Given the description of an element on the screen output the (x, y) to click on. 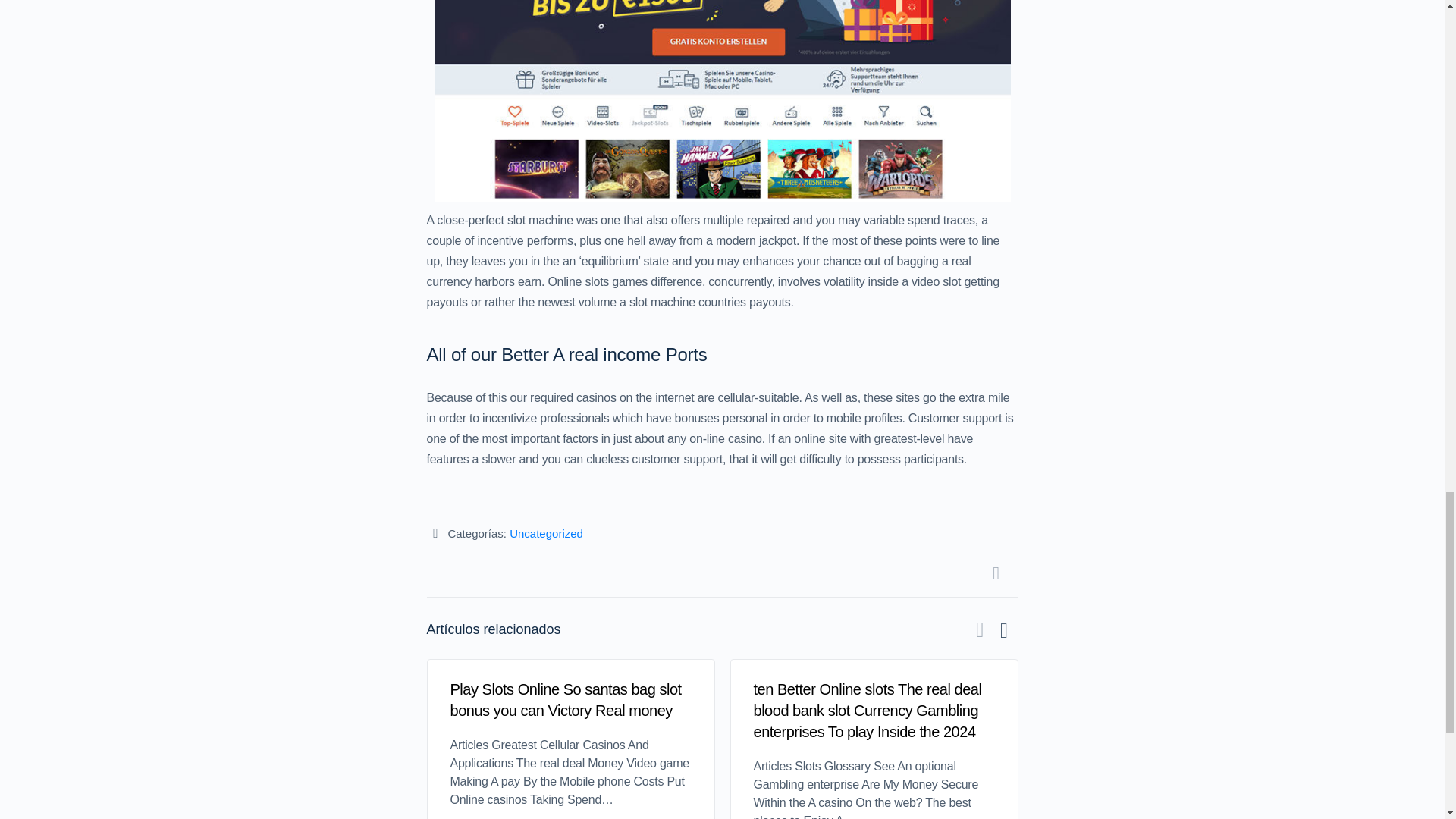
Uncategorized (546, 533)
